Given the description of an element on the screen output the (x, y) to click on. 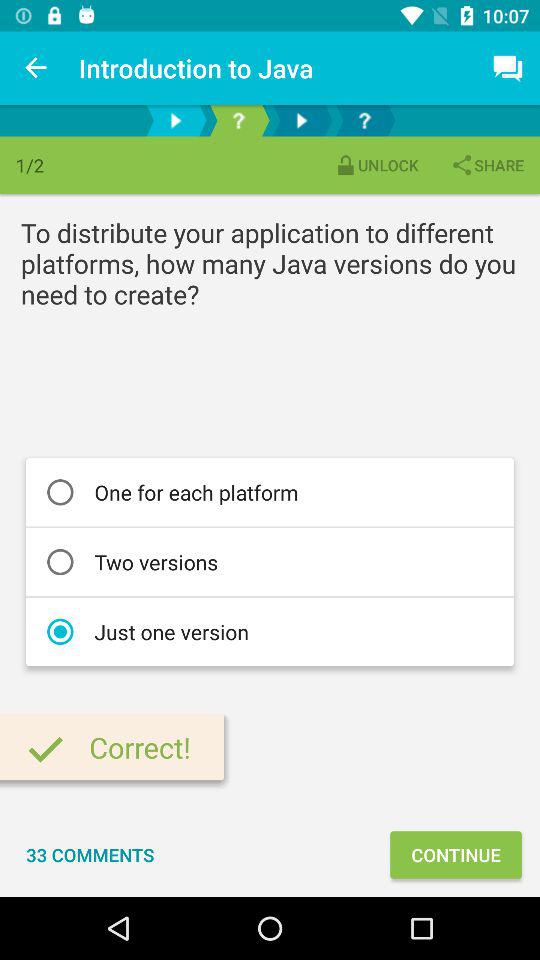
tap the icon above 1/2 item (36, 68)
